Given the description of an element on the screen output the (x, y) to click on. 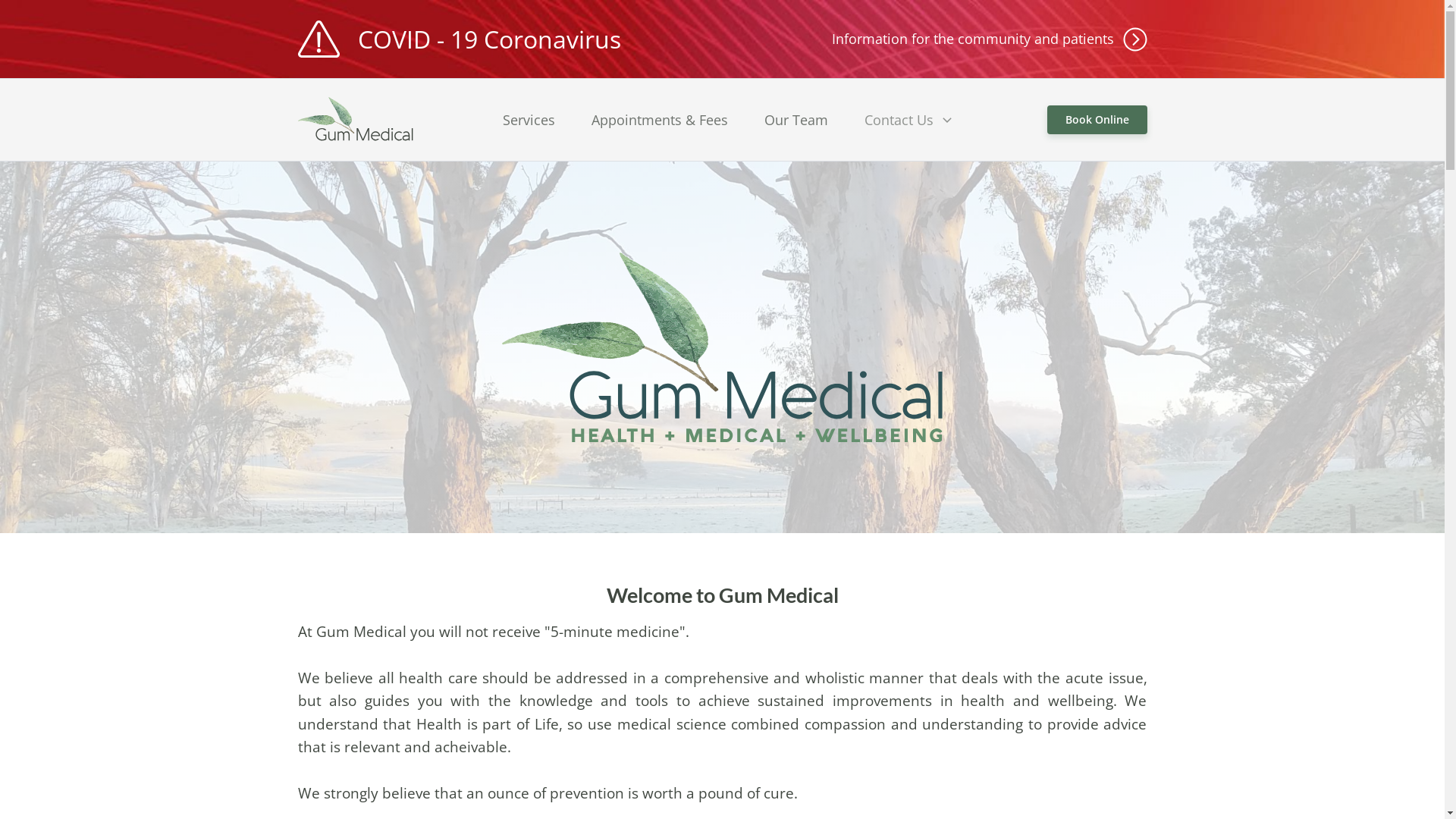
Information for the community and patients Element type: text (988, 39)
Appointments & Fees Element type: text (659, 120)
Book Online Element type: text (1096, 119)
Services Element type: text (528, 120)
Our Team Element type: text (796, 120)
Contact Us Element type: text (909, 120)
